Given the description of an element on the screen output the (x, y) to click on. 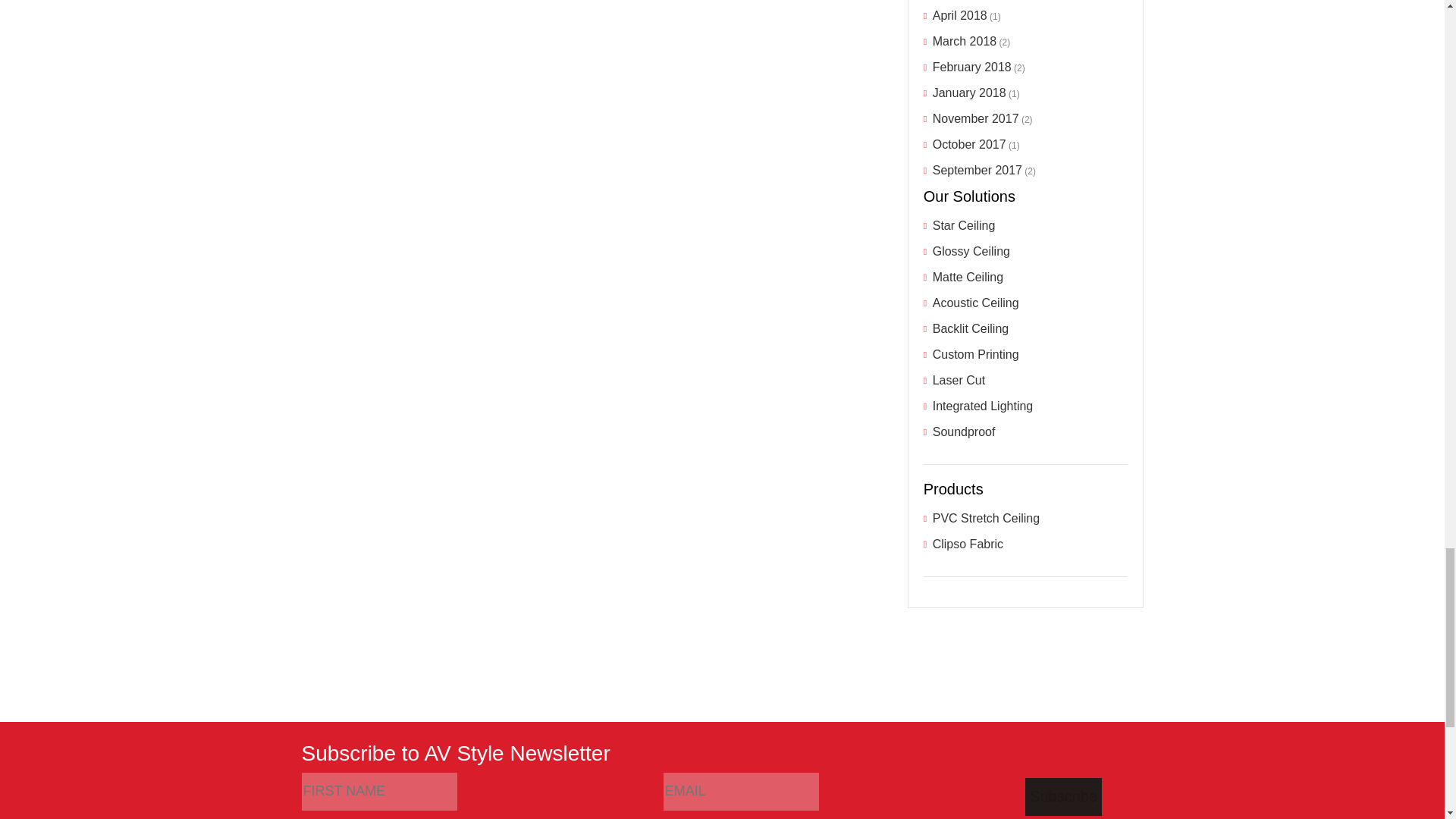
Subscribe (1063, 796)
